Given the description of an element on the screen output the (x, y) to click on. 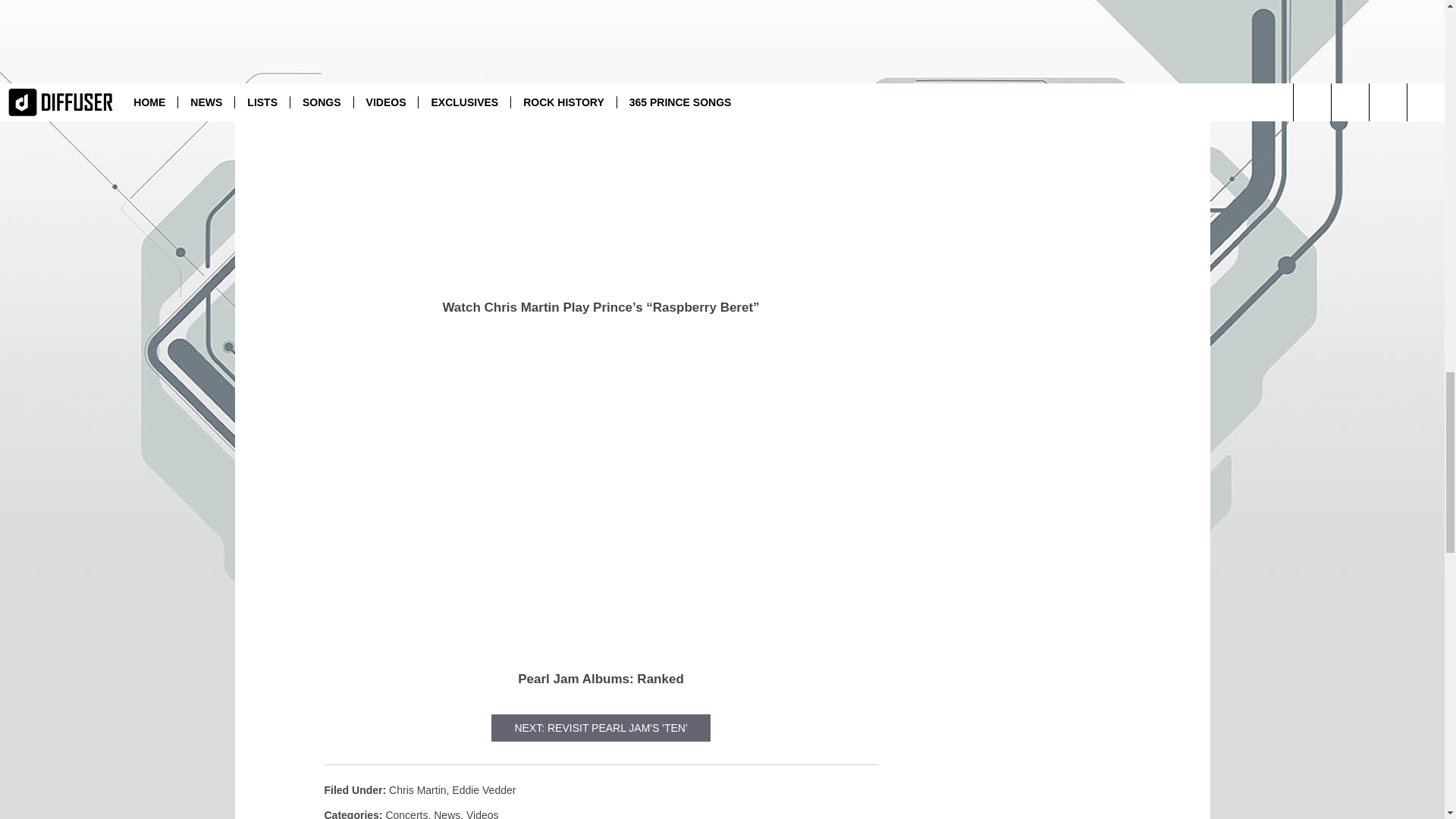
NEXT: REVISIT PEARL JAM'S 'TEN' (601, 728)
Videos (482, 814)
News (446, 814)
Chris Martin (416, 789)
Eddie Vedder (483, 789)
Concerts (406, 814)
